Given the description of an element on the screen output the (x, y) to click on. 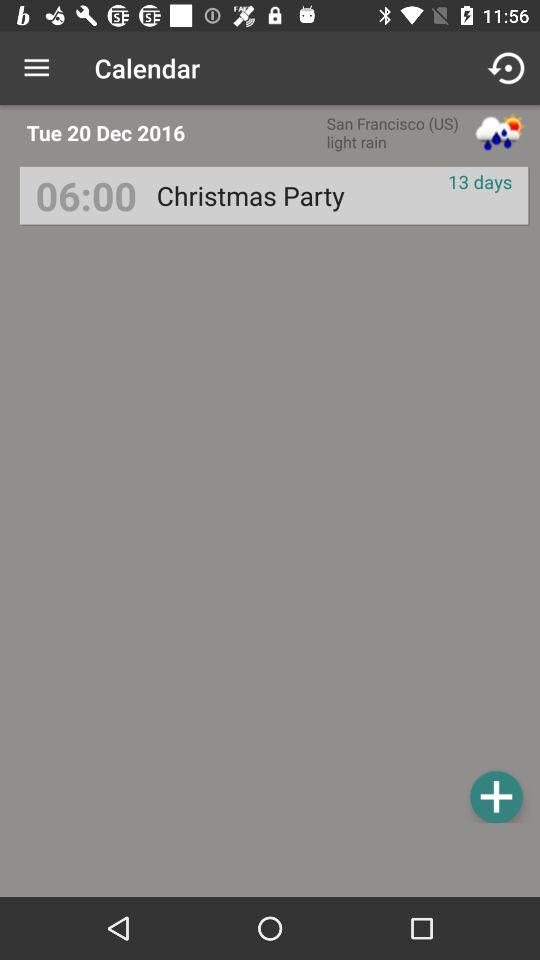
choose icon to the left of christmas party item (85, 195)
